Given the description of an element on the screen output the (x, y) to click on. 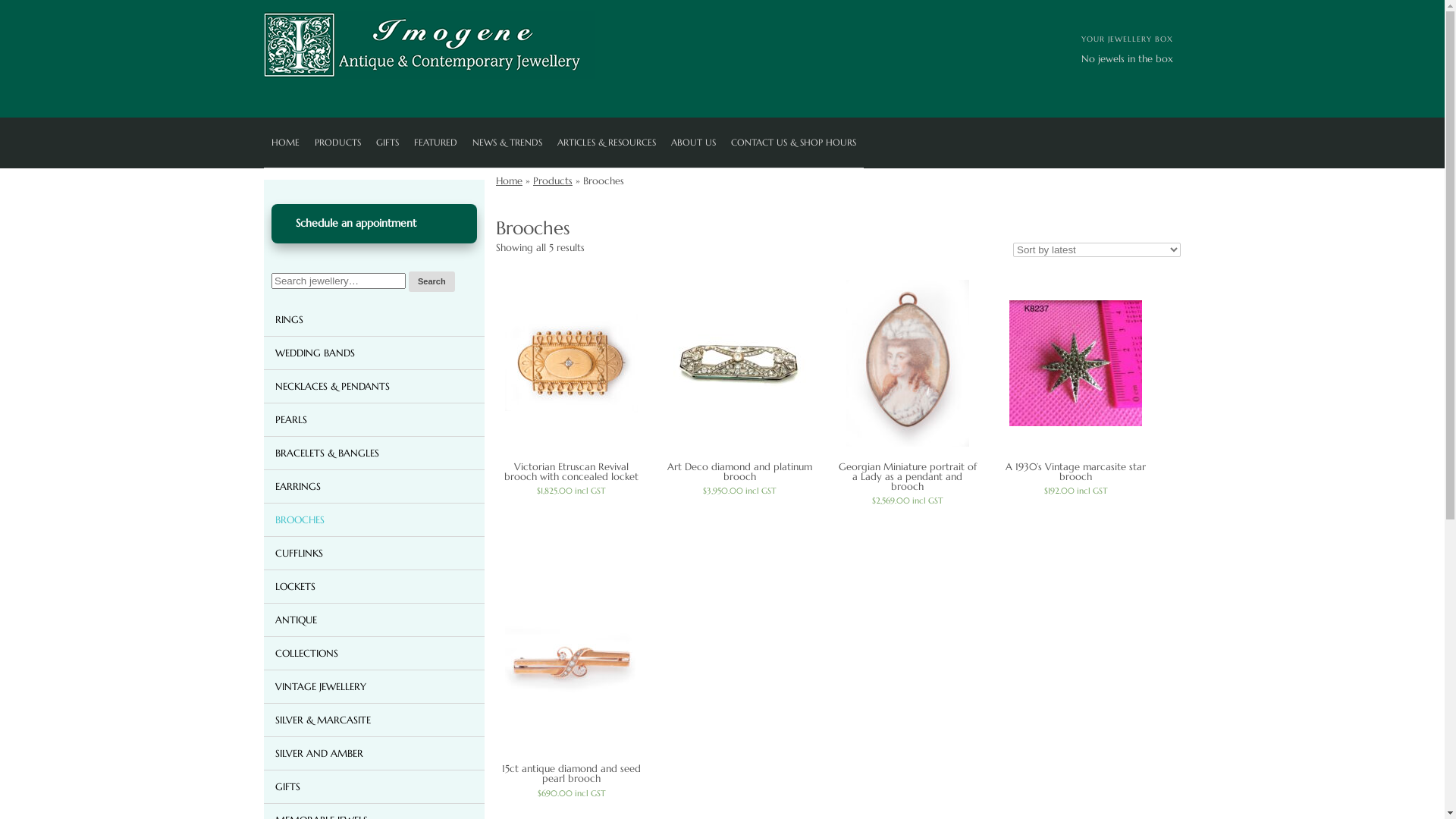
BRACELETS & BANGLES Element type: text (373, 451)
Products Element type: text (552, 180)
Art Deco diamond and platinum brooch
$3,950.00 incl GST Element type: text (739, 387)
GIFTS Element type: text (373, 785)
PRODUCTS Element type: text (337, 142)
FEATURED Element type: text (435, 142)
SILVER & MARCASITE Element type: text (373, 718)
COLLECTIONS Element type: text (373, 652)
CUFFLINKS Element type: text (373, 552)
ABOUT US Element type: text (693, 142)
Search Element type: text (431, 281)
HOME Element type: text (285, 142)
WEDDING BANDS Element type: text (373, 351)
Schedule an appointment Element type: text (373, 223)
CONTACT US & SHOP HOURS Element type: text (793, 142)
NEWS & TRENDS Element type: text (506, 142)
ARTICLES & RESOURCES Element type: text (606, 142)
PEARLS Element type: text (373, 418)
GIFTS Element type: text (387, 142)
SILVER AND AMBER Element type: text (373, 752)
NECKLACES & PENDANTS Element type: text (373, 385)
VINTAGE JEWELLERY Element type: text (373, 685)
Home Element type: text (508, 180)
LOCKETS Element type: text (373, 585)
15ct antique diamond and seed pearl brooch
$690.00 incl GST Element type: text (570, 690)
BROOCHES Element type: text (373, 518)
EARRINGS Element type: text (373, 485)
RINGS Element type: text (373, 318)
ANTIQUE Element type: text (373, 618)
